Given the description of an element on the screen output the (x, y) to click on. 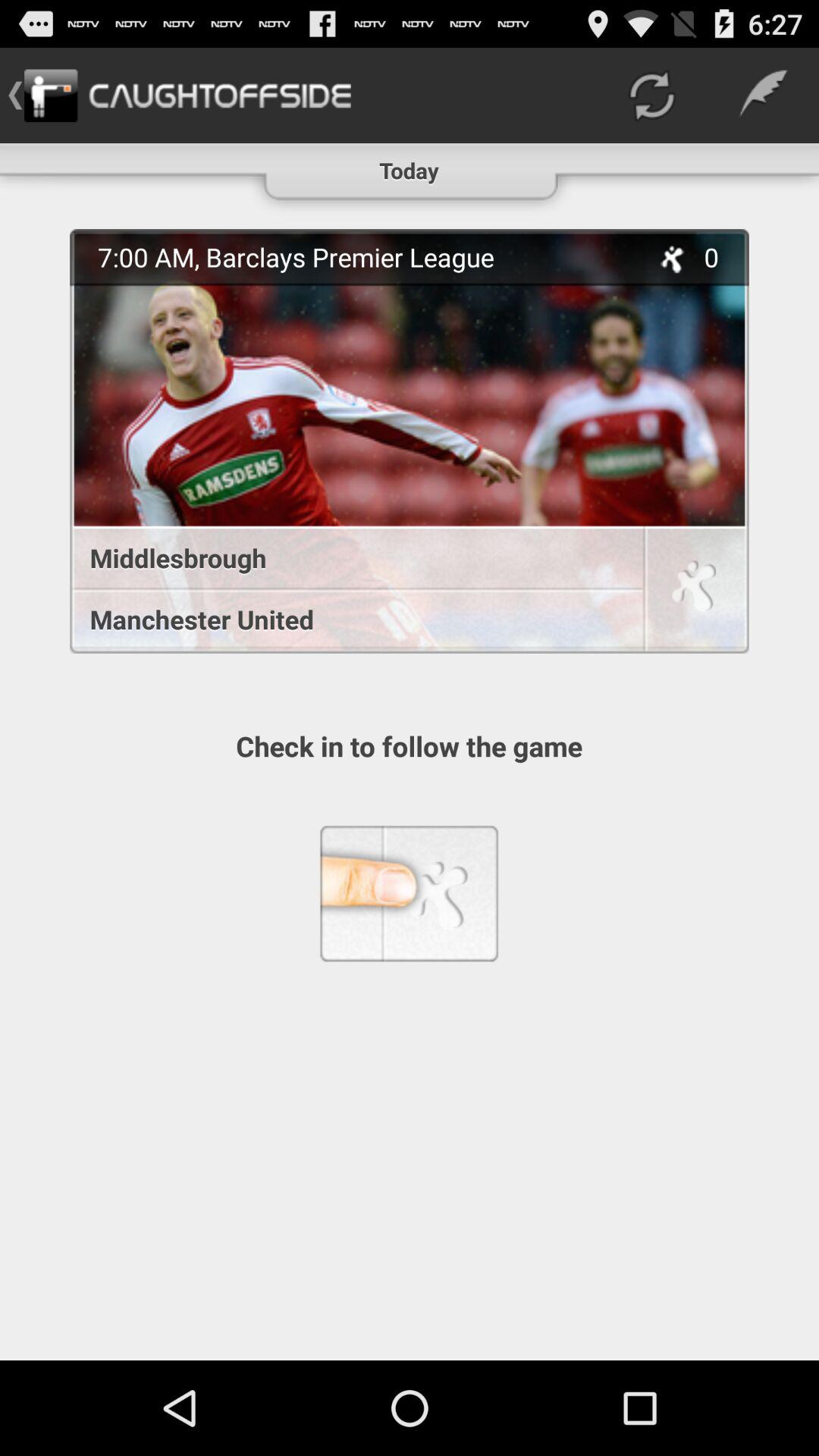
turn off app below today app (364, 256)
